Given the description of an element on the screen output the (x, y) to click on. 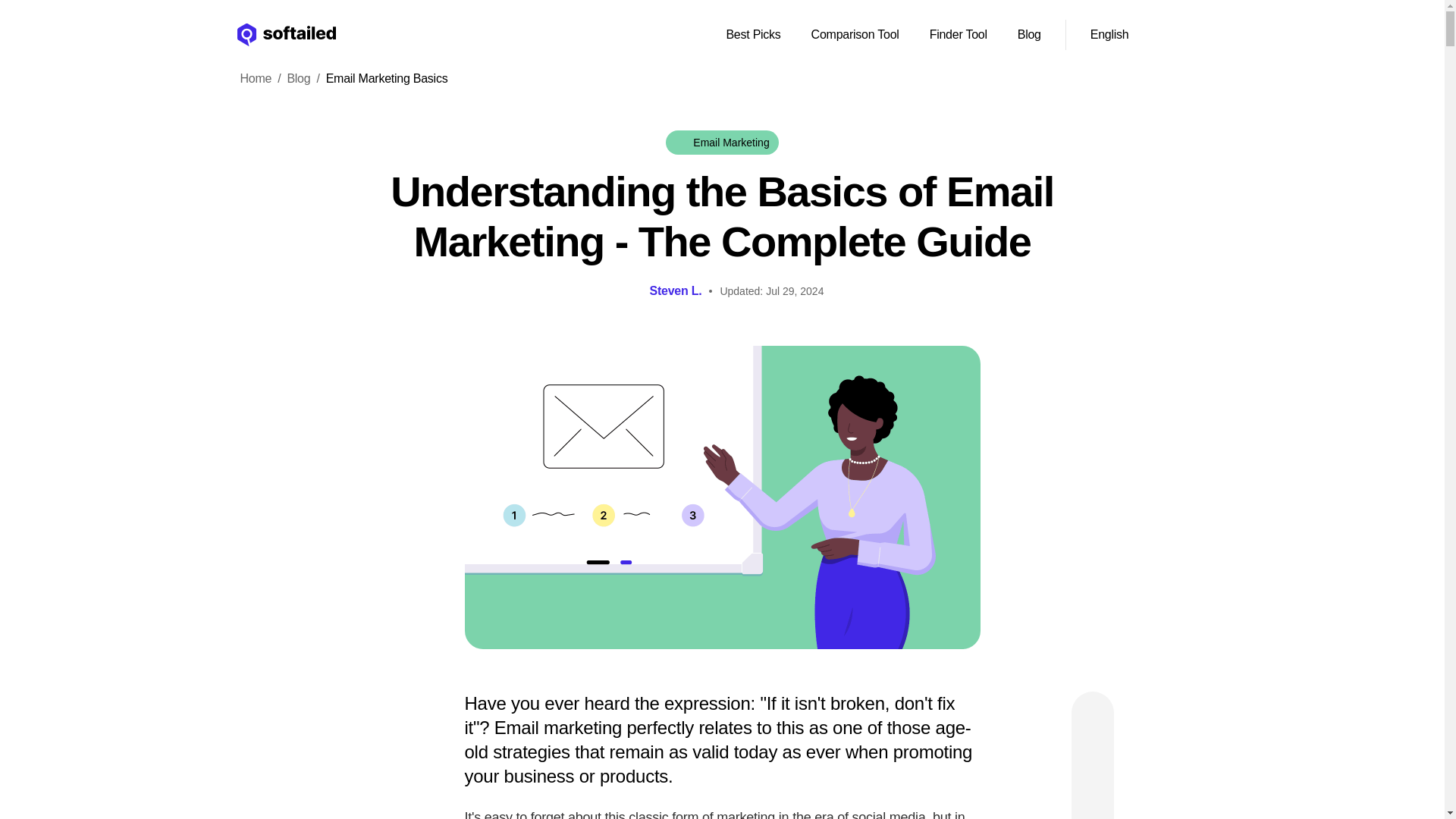
Email Marketing (721, 142)
Blog (1029, 34)
Home (245, 78)
Blog (298, 78)
Best Picks (752, 34)
Finder Tool (957, 34)
English (1128, 34)
Steven L. (675, 290)
Comparison Tool (855, 34)
